Given the description of an element on the screen output the (x, y) to click on. 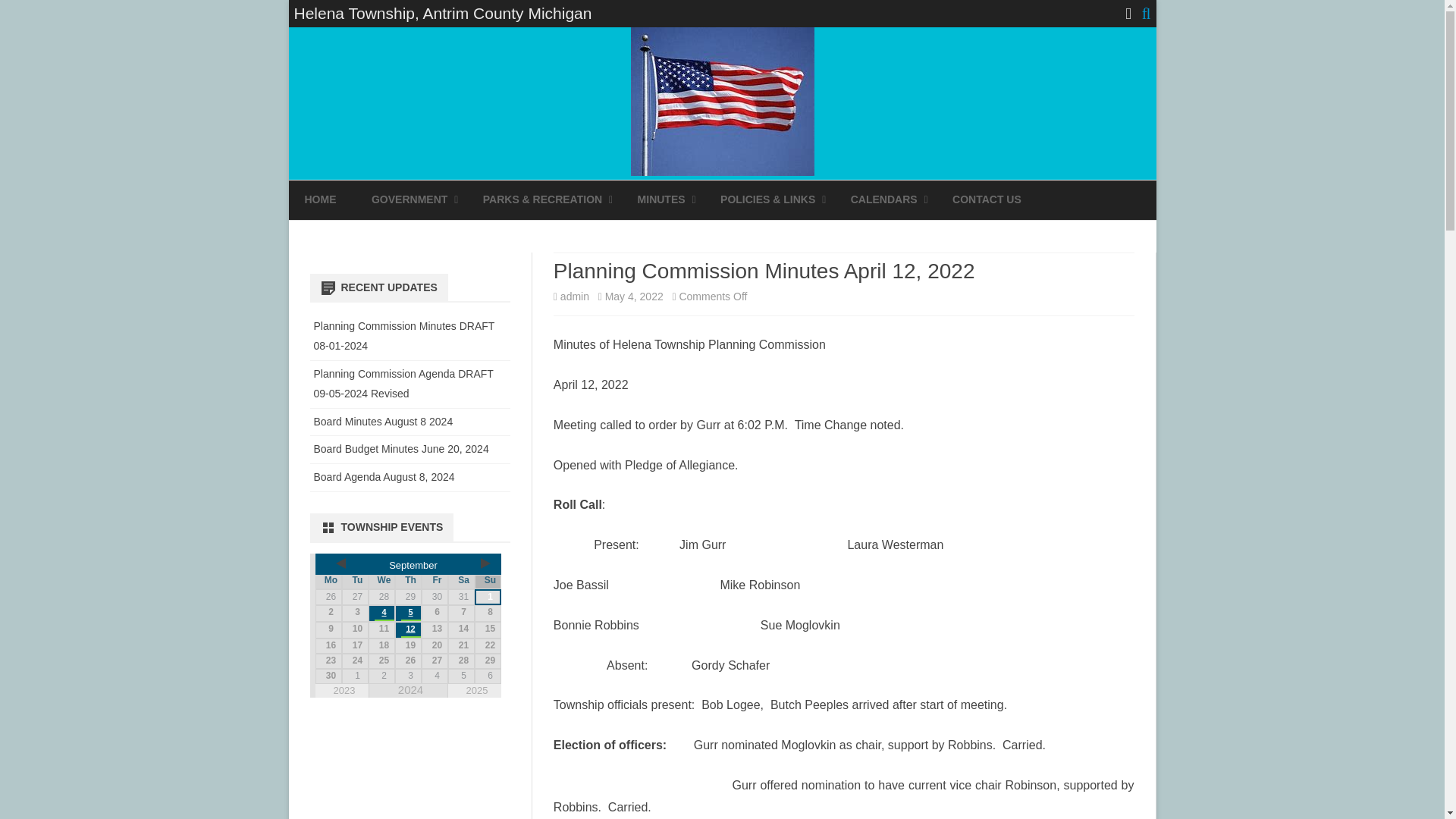
GOVERNMENT (408, 200)
